Given the description of an element on the screen output the (x, y) to click on. 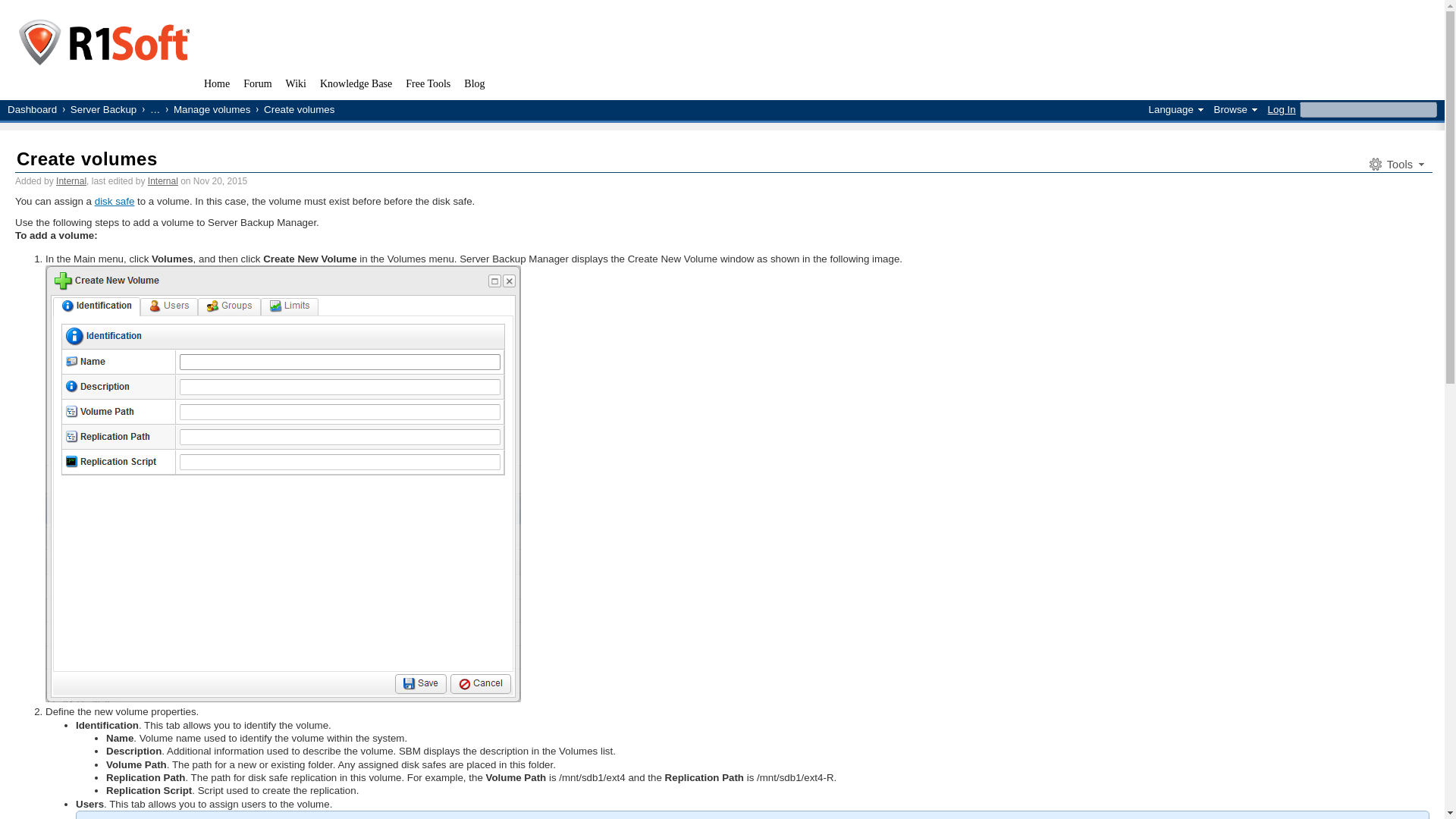
Home (215, 86)
Forum (256, 86)
Internal (162, 181)
Language (1175, 109)
Tools (1395, 164)
Go to Dashboard (31, 109)
Blog (474, 86)
Wiki (296, 86)
r1soft.com (103, 43)
Show all breadcrumbs (149, 109)
